Given the description of an element on the screen output the (x, y) to click on. 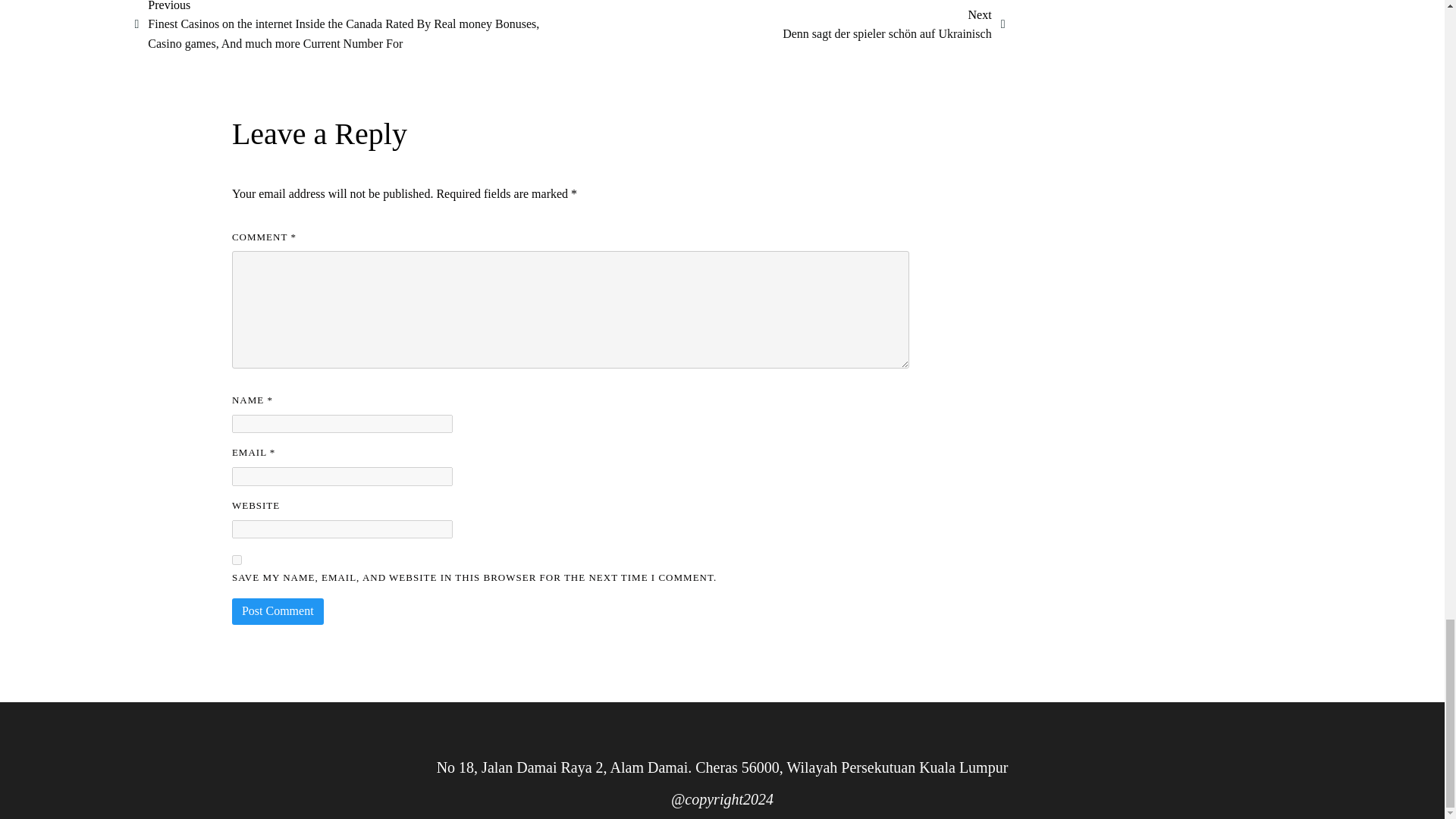
yes (236, 560)
Post Comment (277, 611)
Post Comment (277, 611)
